Given the description of an element on the screen output the (x, y) to click on. 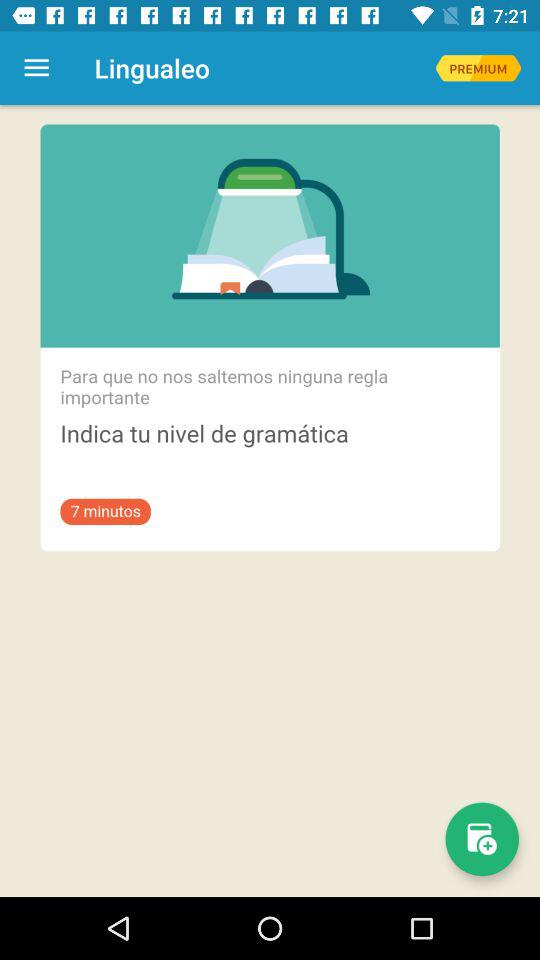
premium version (478, 68)
